Given the description of an element on the screen output the (x, y) to click on. 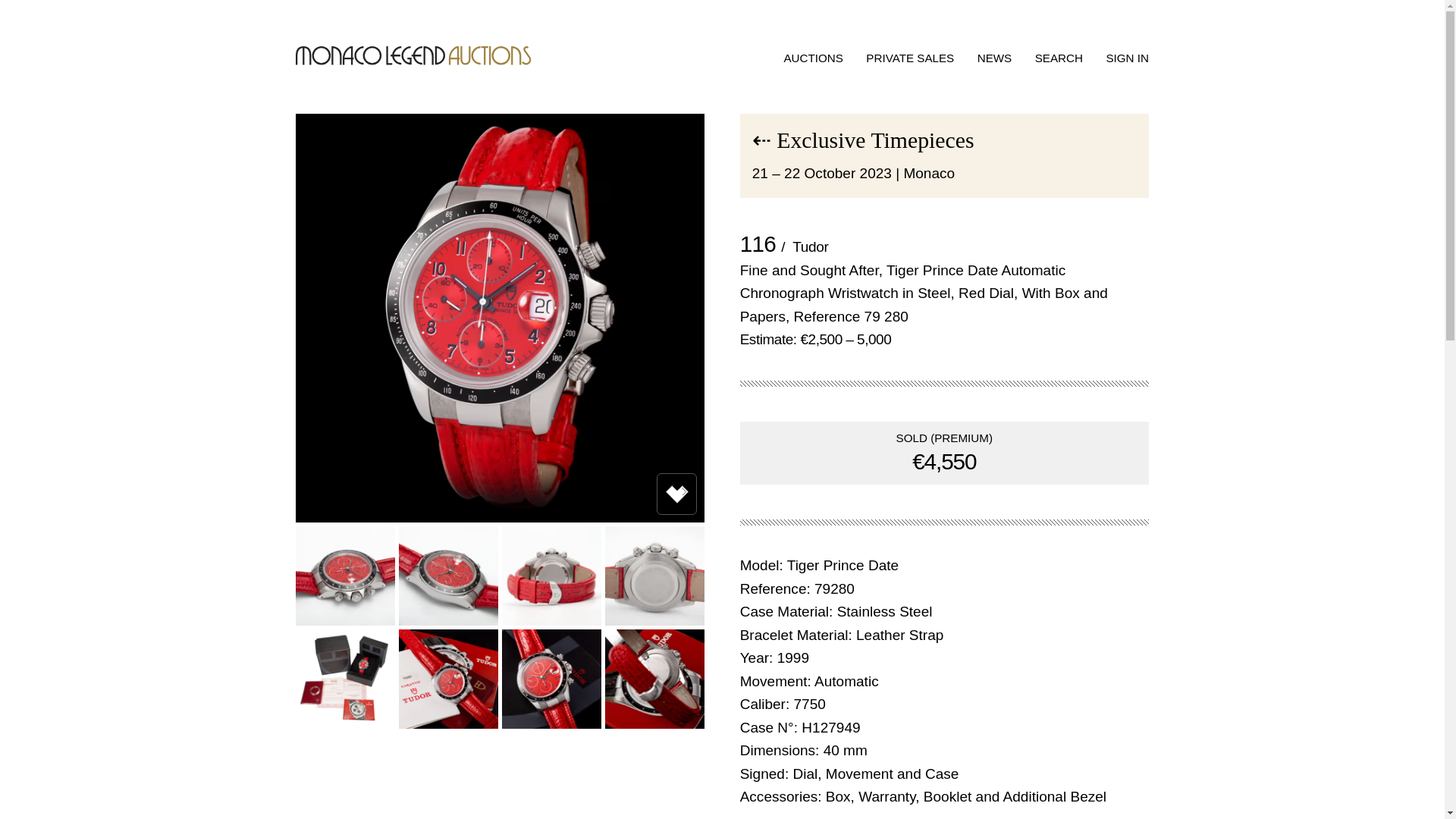
Subscribe (1361, 761)
AUCTIONS (813, 58)
PRIVATE SALES (909, 58)
SEARCH (1059, 58)
SIGN IN (1126, 58)
HOME (413, 56)
NEWS (993, 58)
